Given the description of an element on the screen output the (x, y) to click on. 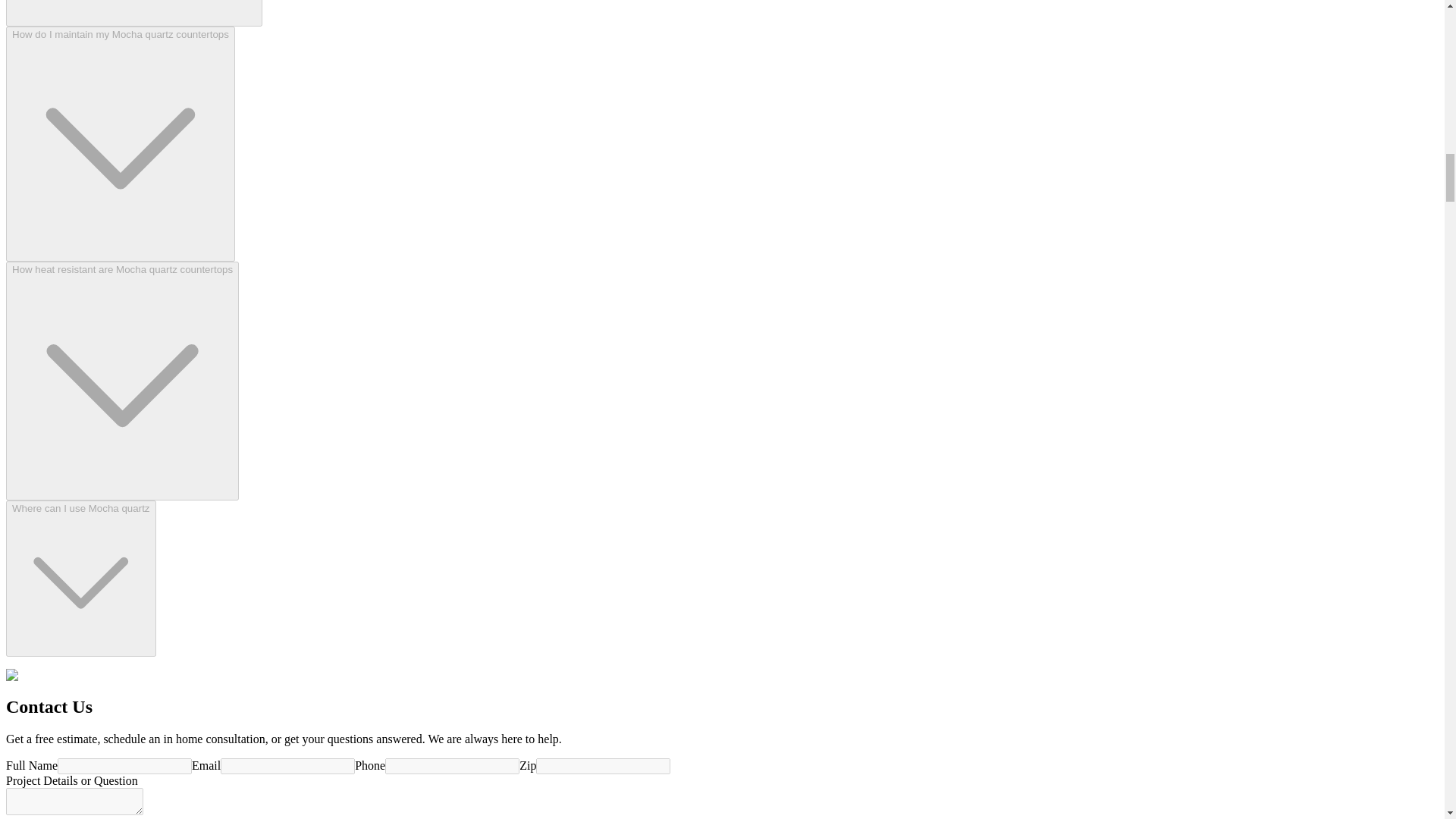
How do I maintain my Mocha quartz countertops (119, 143)
What are the advantages of Mocha quartz countertops (133, 13)
How heat resistant are Mocha quartz countertops (121, 380)
Where can I use Mocha quartz (80, 578)
